Given the description of an element on the screen output the (x, y) to click on. 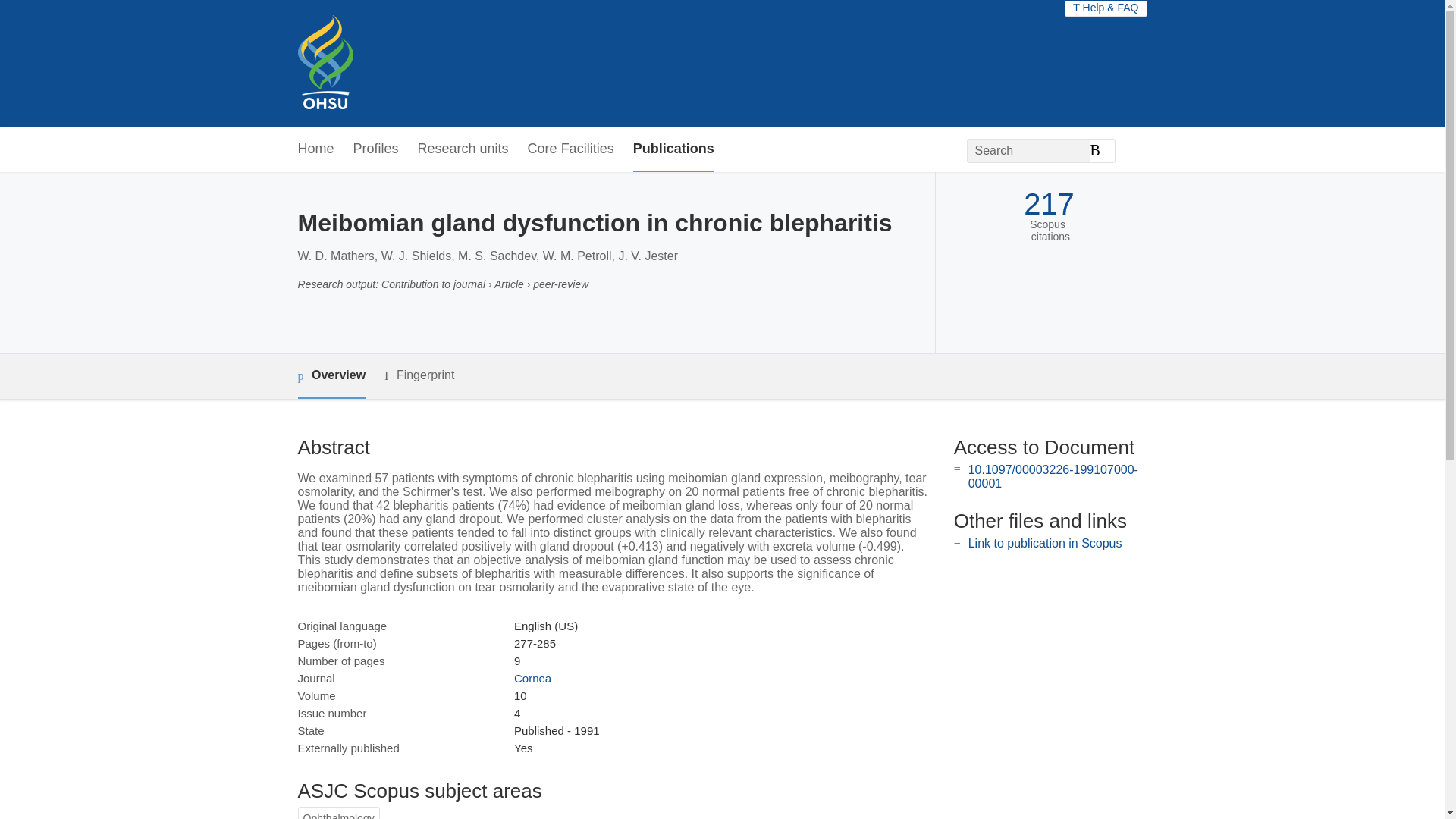
Profiles (375, 149)
Cornea (532, 677)
Core Facilities (570, 149)
Fingerprint (419, 375)
Research units (462, 149)
217 (1048, 203)
Link to publication in Scopus (1045, 543)
Publications (673, 149)
Overview (331, 375)
